Given the description of an element on the screen output the (x, y) to click on. 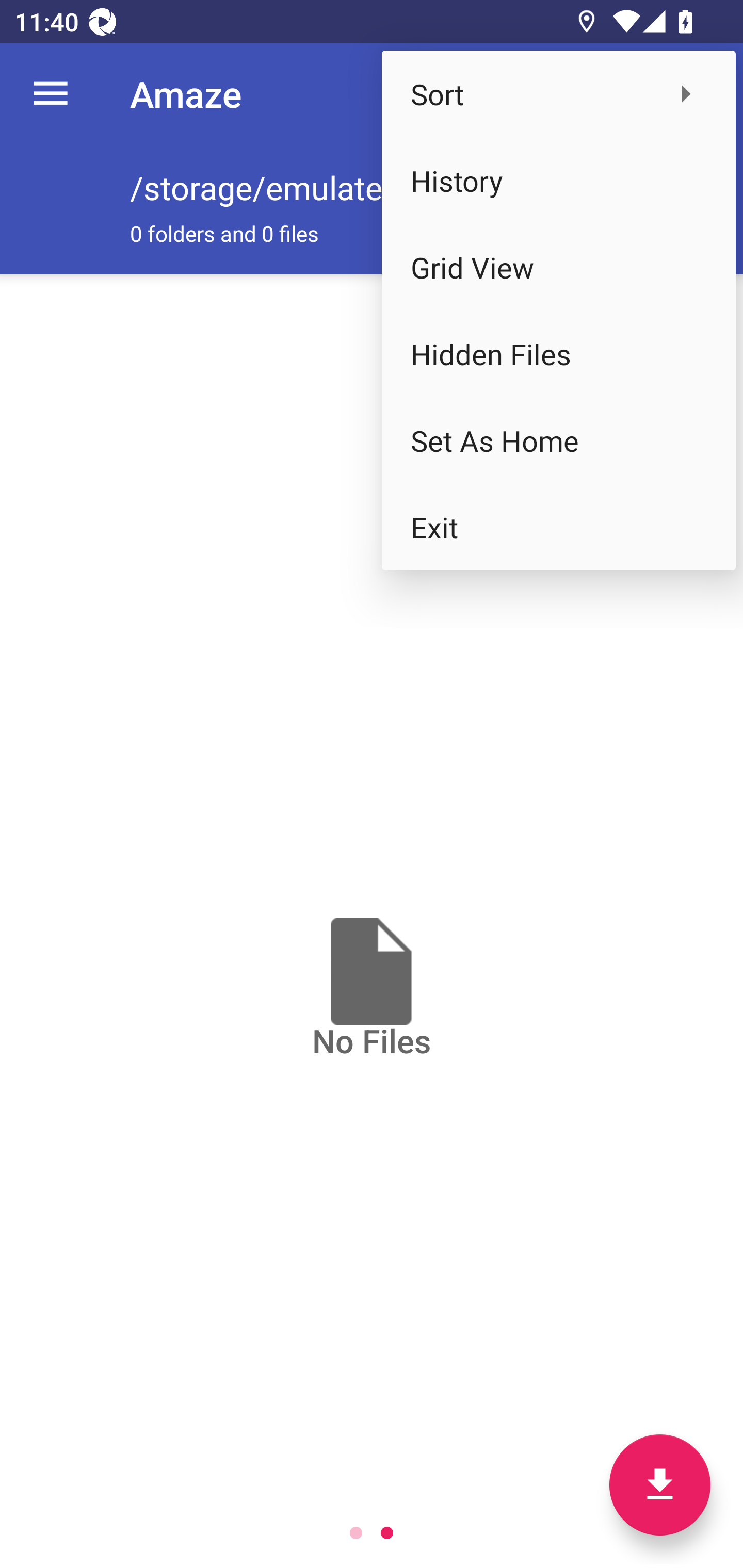
Sort (558, 93)
History (558, 180)
Grid View (558, 267)
Hidden Files (558, 353)
Set As Home (558, 440)
Exit (558, 527)
